Given the description of an element on the screen output the (x, y) to click on. 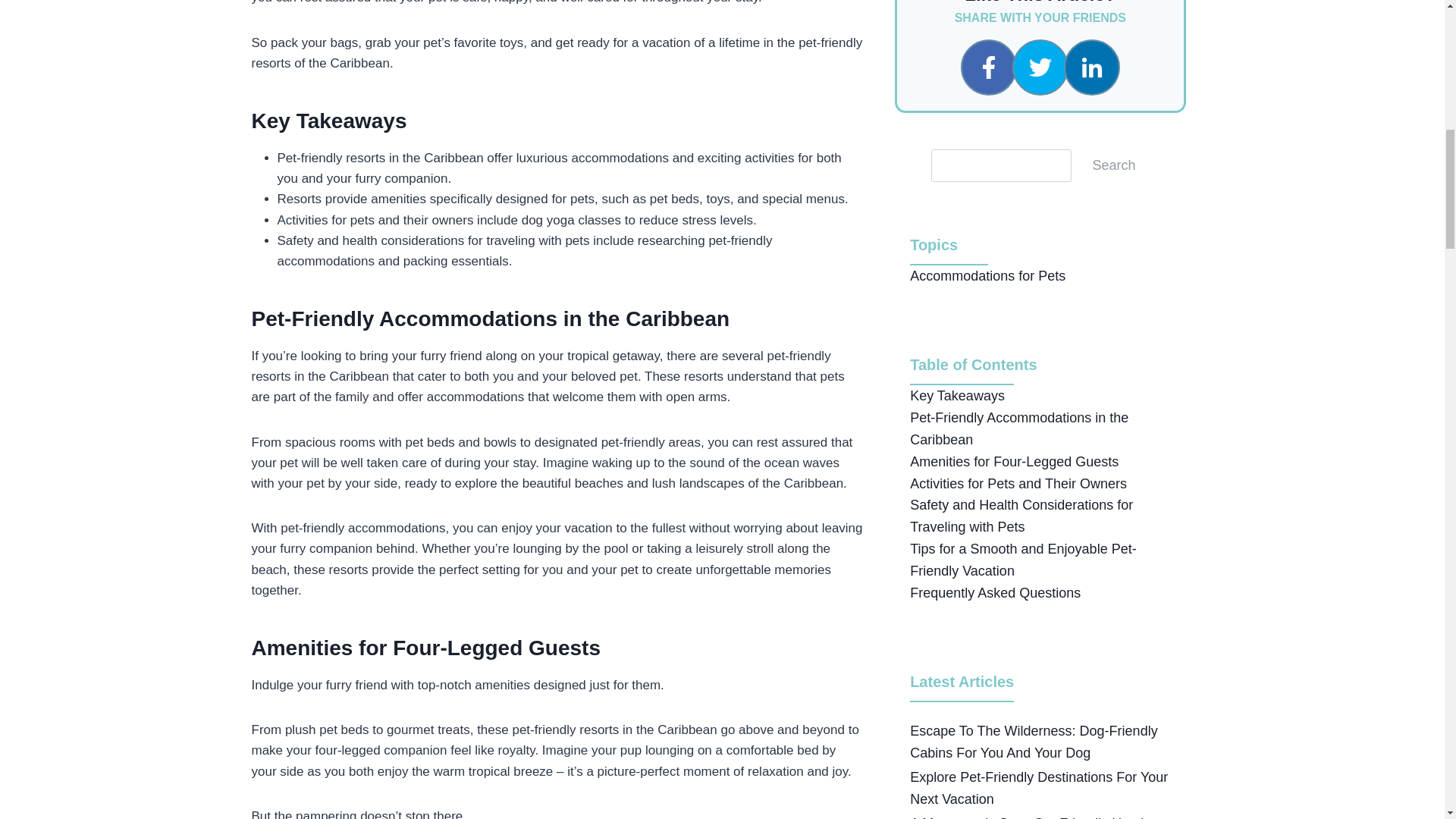
Search (1114, 164)
Safety and Health Considerations for Traveling with Pets (1021, 515)
Pet-Friendly Accommodations in the Caribbean (1019, 428)
Amenities for Four-Legged Guests (1014, 461)
Key Takeaways (957, 395)
Activities for Pets and Their Owners (1018, 483)
Accommodations for Pets (987, 275)
